Given the description of an element on the screen output the (x, y) to click on. 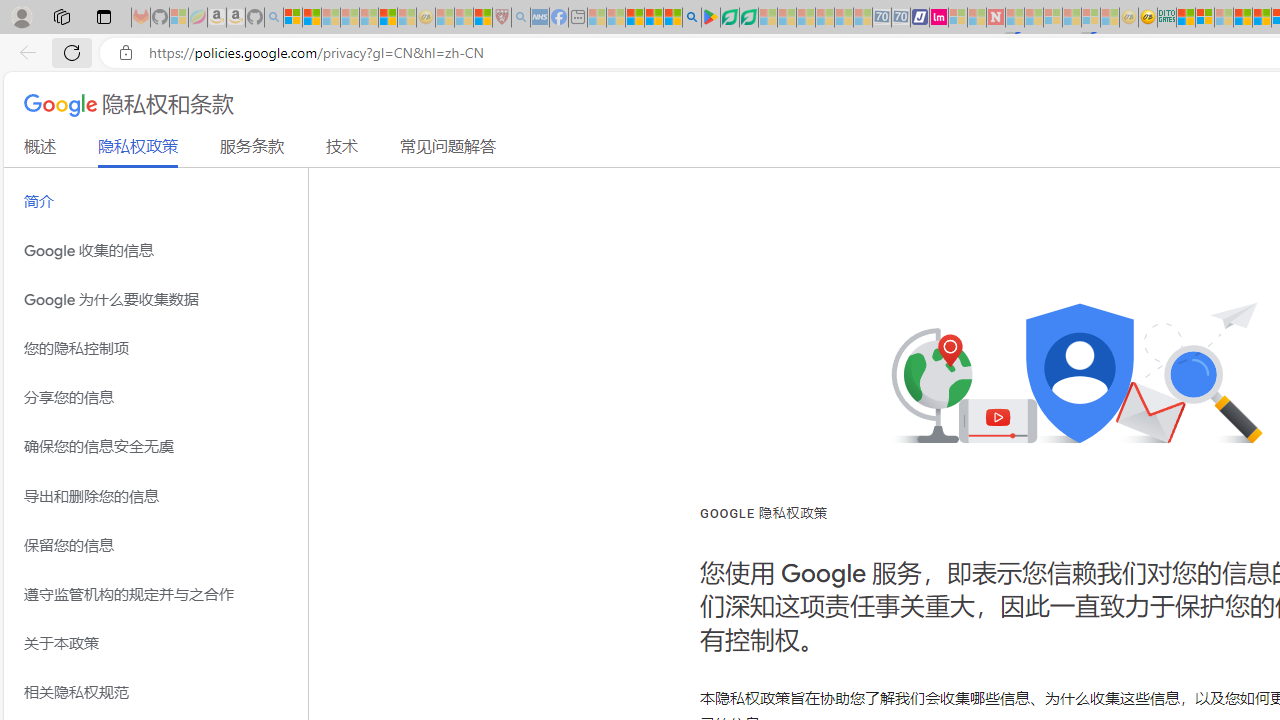
Bluey: Let's Play! - Apps on Google Play (710, 17)
